Given the description of an element on the screen output the (x, y) to click on. 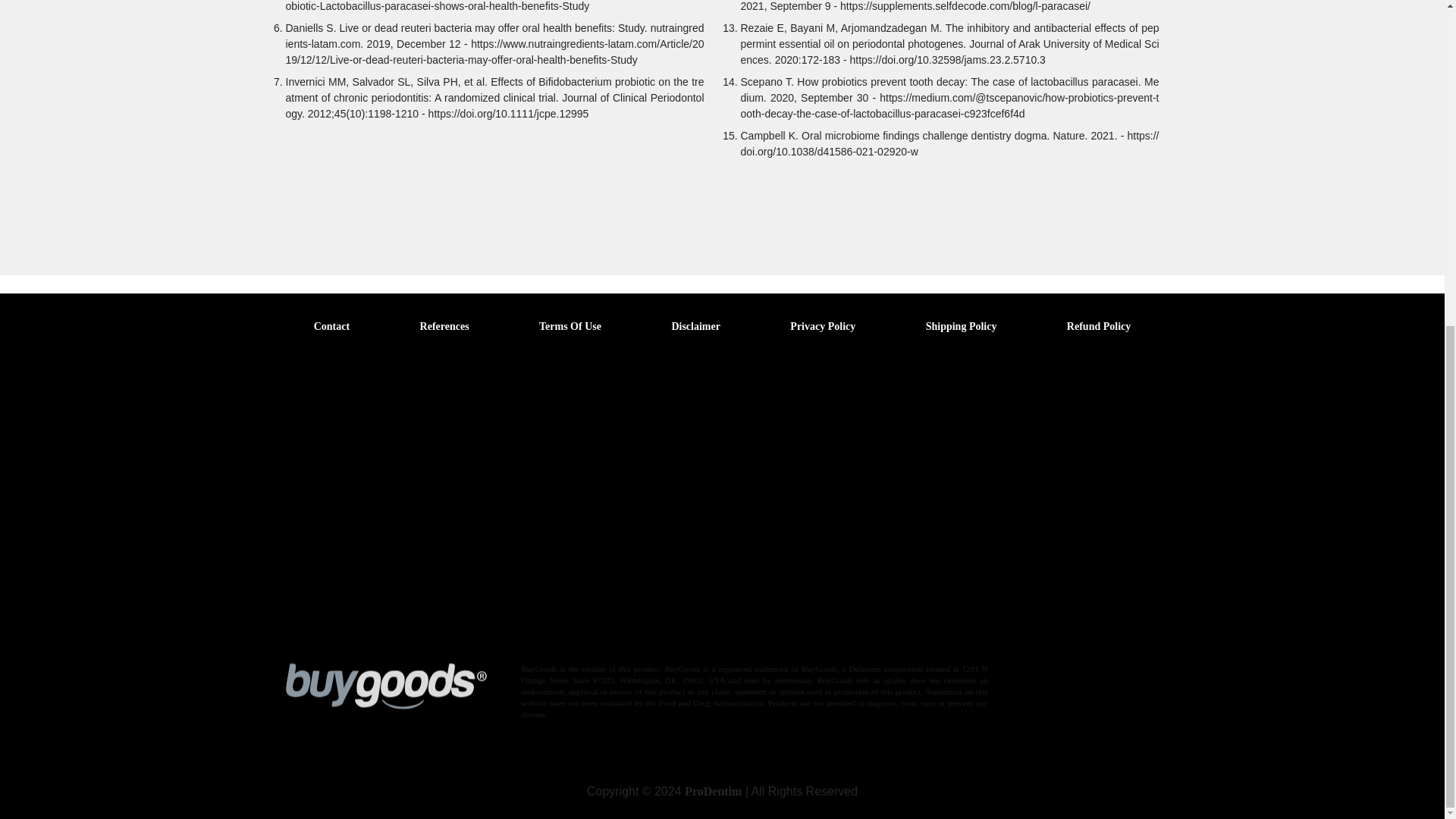
Disclaimer (695, 326)
Shipping Policy (961, 326)
Refund Policy (1099, 326)
Terms Of Use (569, 326)
References (444, 326)
Read more here (659, 635)
Contact (331, 326)
Privacy Policy (823, 326)
